Given the description of an element on the screen output the (x, y) to click on. 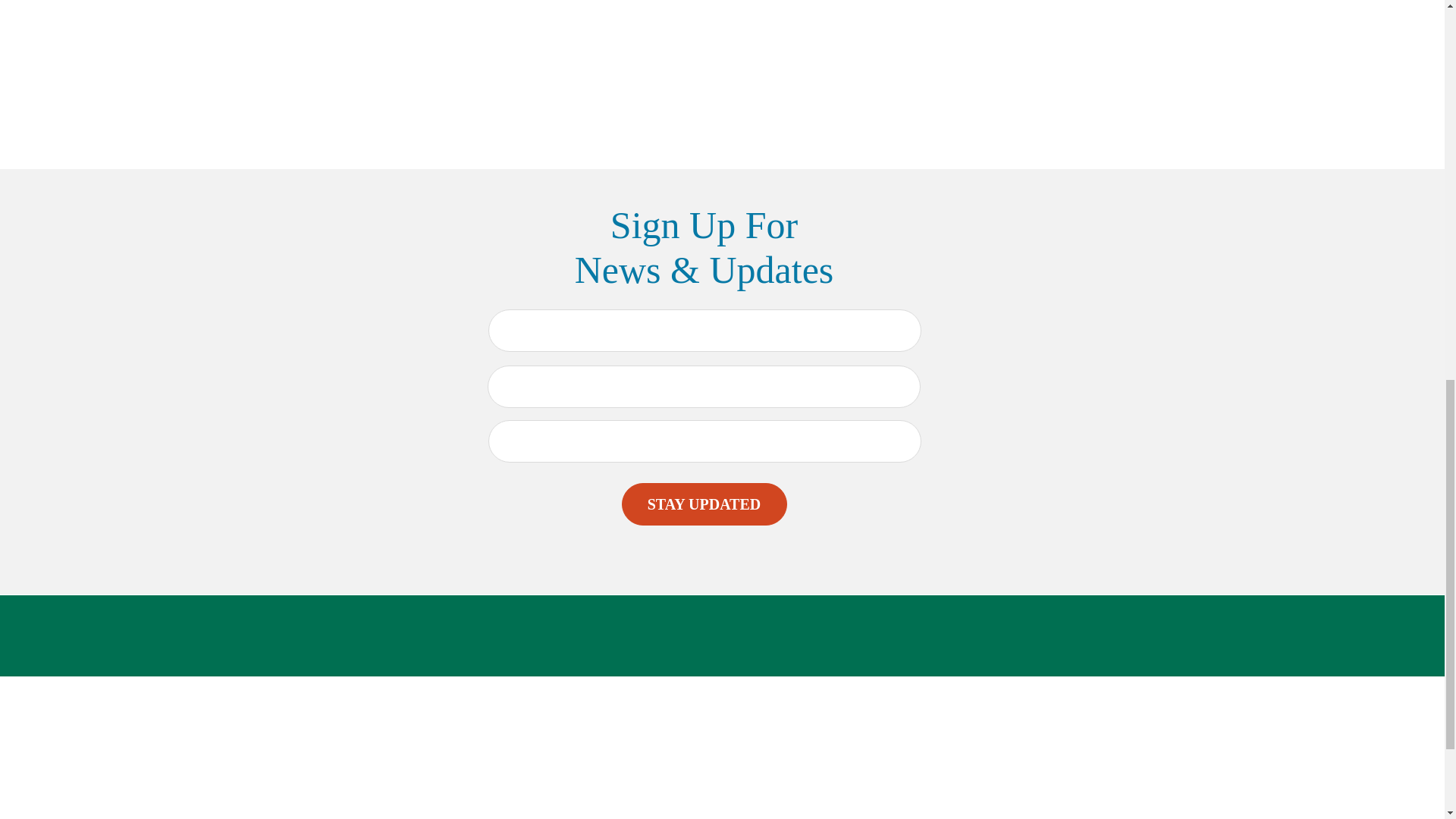
STAY UPDATED (704, 504)
